Given the description of an element on the screen output the (x, y) to click on. 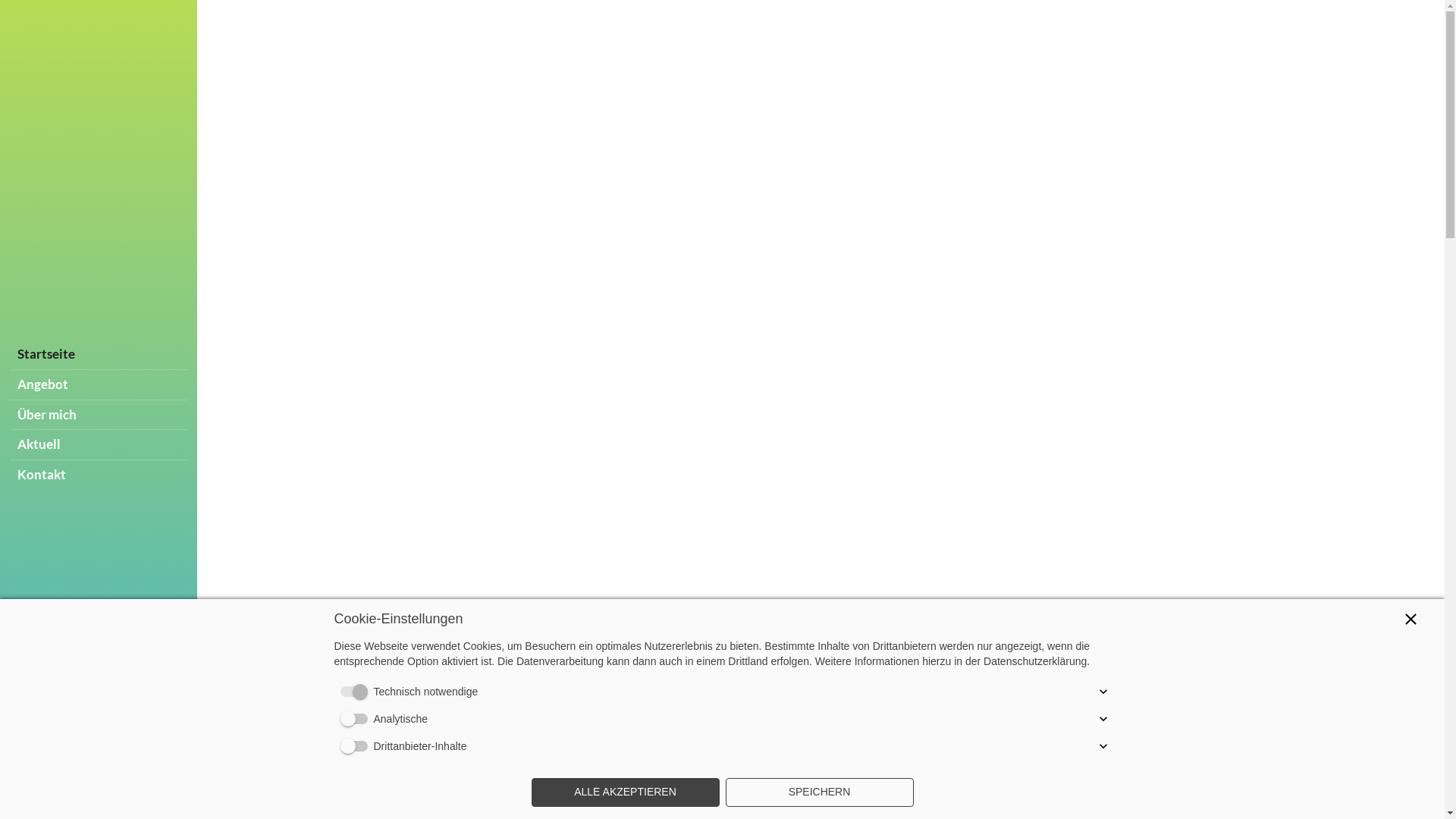
Aktuell Element type: text (98, 444)
SPEICHERN Element type: text (818, 792)
ALLE AKZEPTIEREN Element type: text (624, 792)
Kontakt Element type: text (98, 474)
Startseite Element type: text (98, 354)
Angebot Element type: text (98, 384)
